Given the description of an element on the screen output the (x, y) to click on. 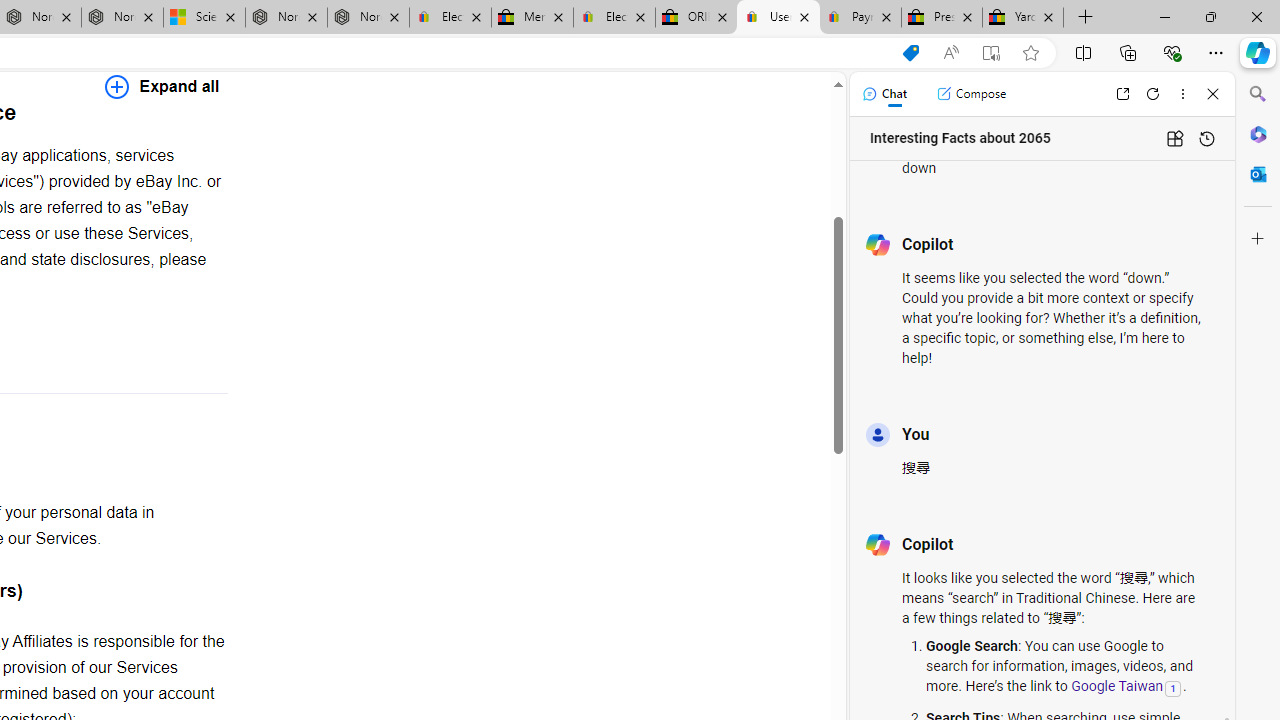
Electronics, Cars, Fashion, Collectibles & More | eBay (614, 17)
User Privacy Notice | eBay (778, 17)
Enter Immersive Reader (F9) (991, 53)
Expand all (162, 86)
Payments Terms of Use | eBay.com (860, 17)
